Given the description of an element on the screen output the (x, y) to click on. 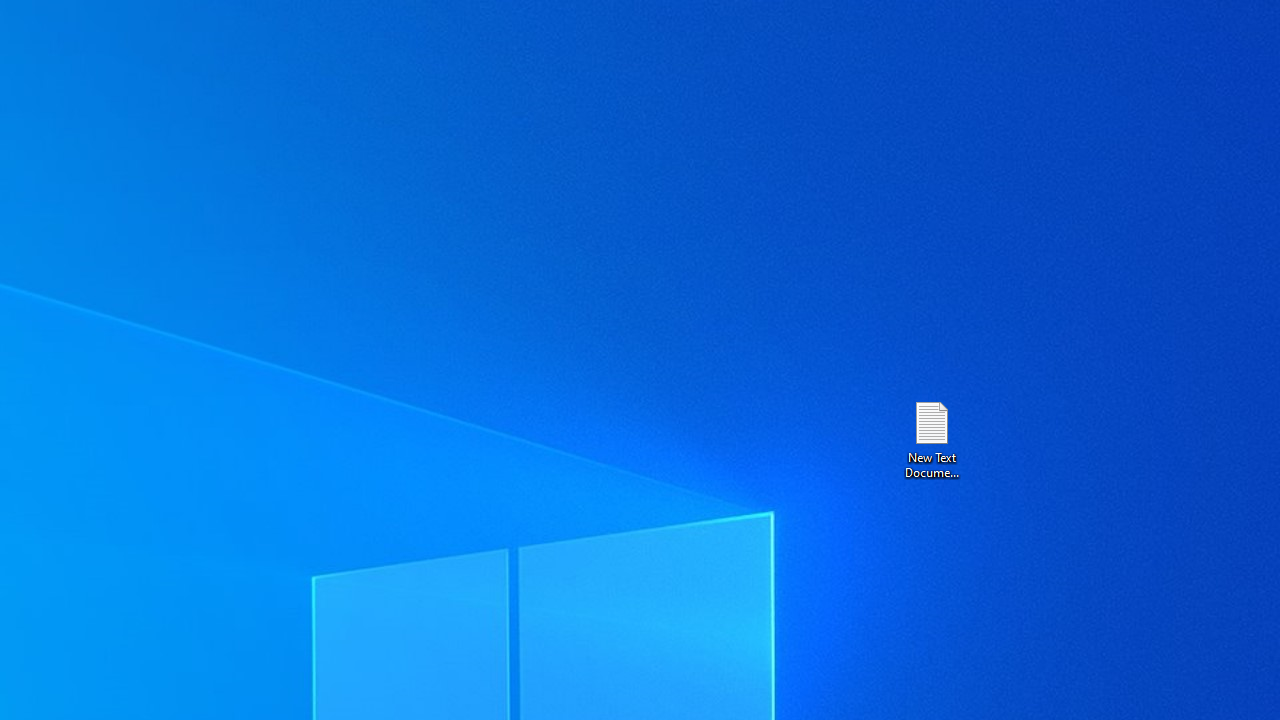
New Text Document (2) (931, 438)
